Given the description of an element on the screen output the (x, y) to click on. 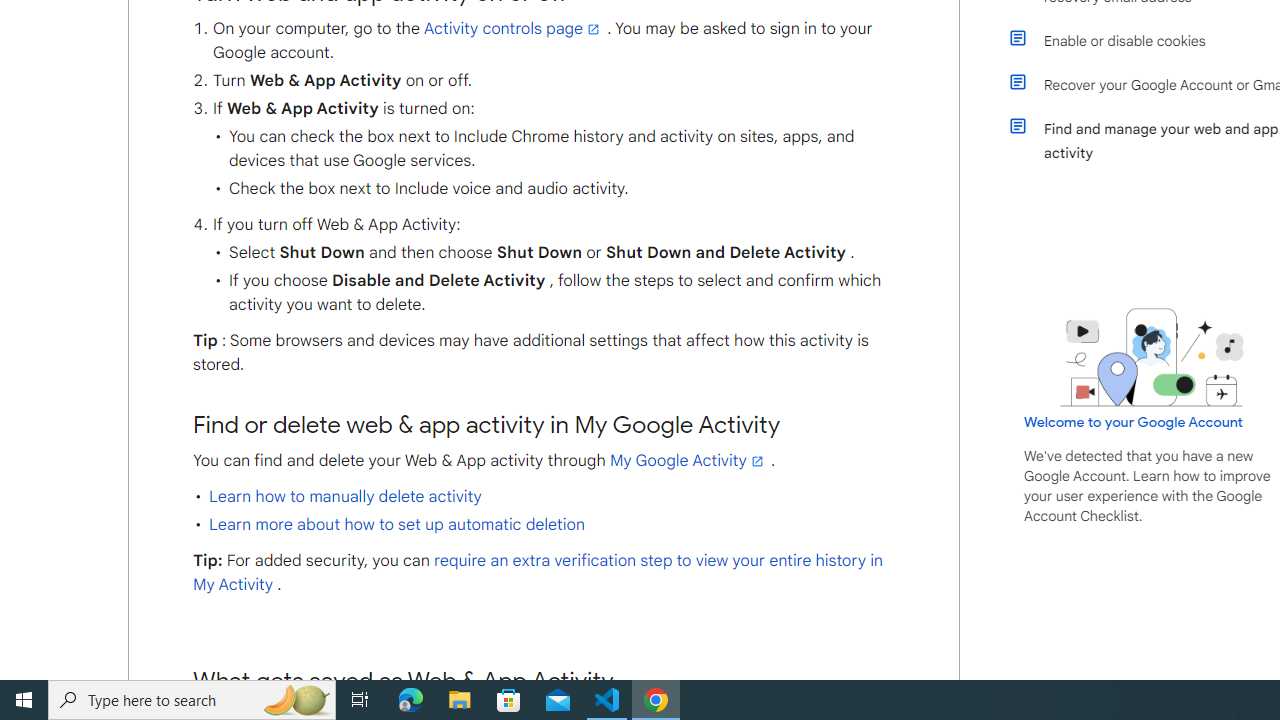
Activity controls page (513, 28)
My Google Activity (687, 460)
Learn how to manually delete activity (345, 496)
Learning Center home page image (1152, 357)
Learn more about how to set up automatic deletion (396, 524)
Welcome to your Google Account (1134, 422)
